Given the description of an element on the screen output the (x, y) to click on. 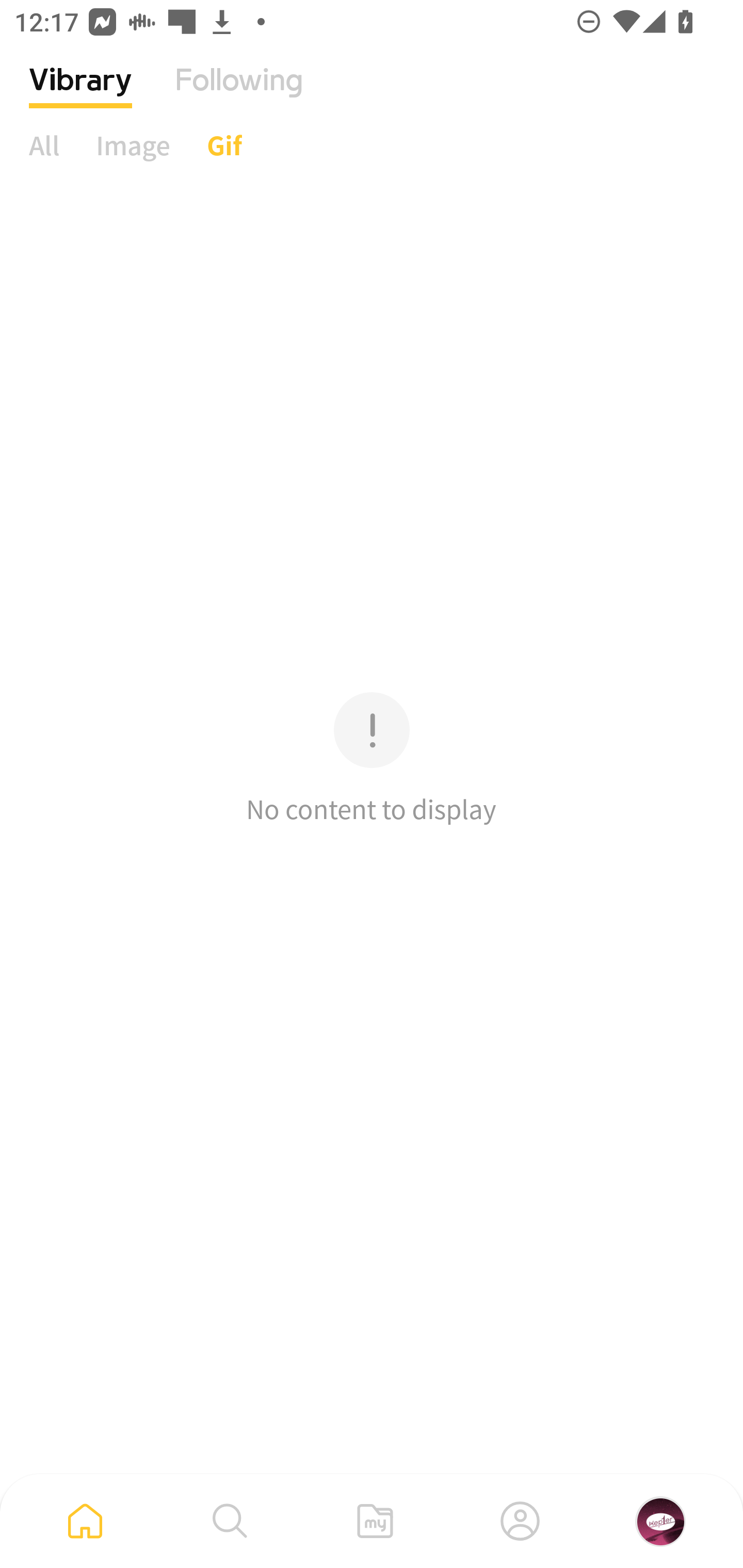
Vibrary (80, 95)
Following (239, 95)
All (44, 145)
Image (132, 145)
Gif (224, 145)
